Given the description of an element on the screen output the (x, y) to click on. 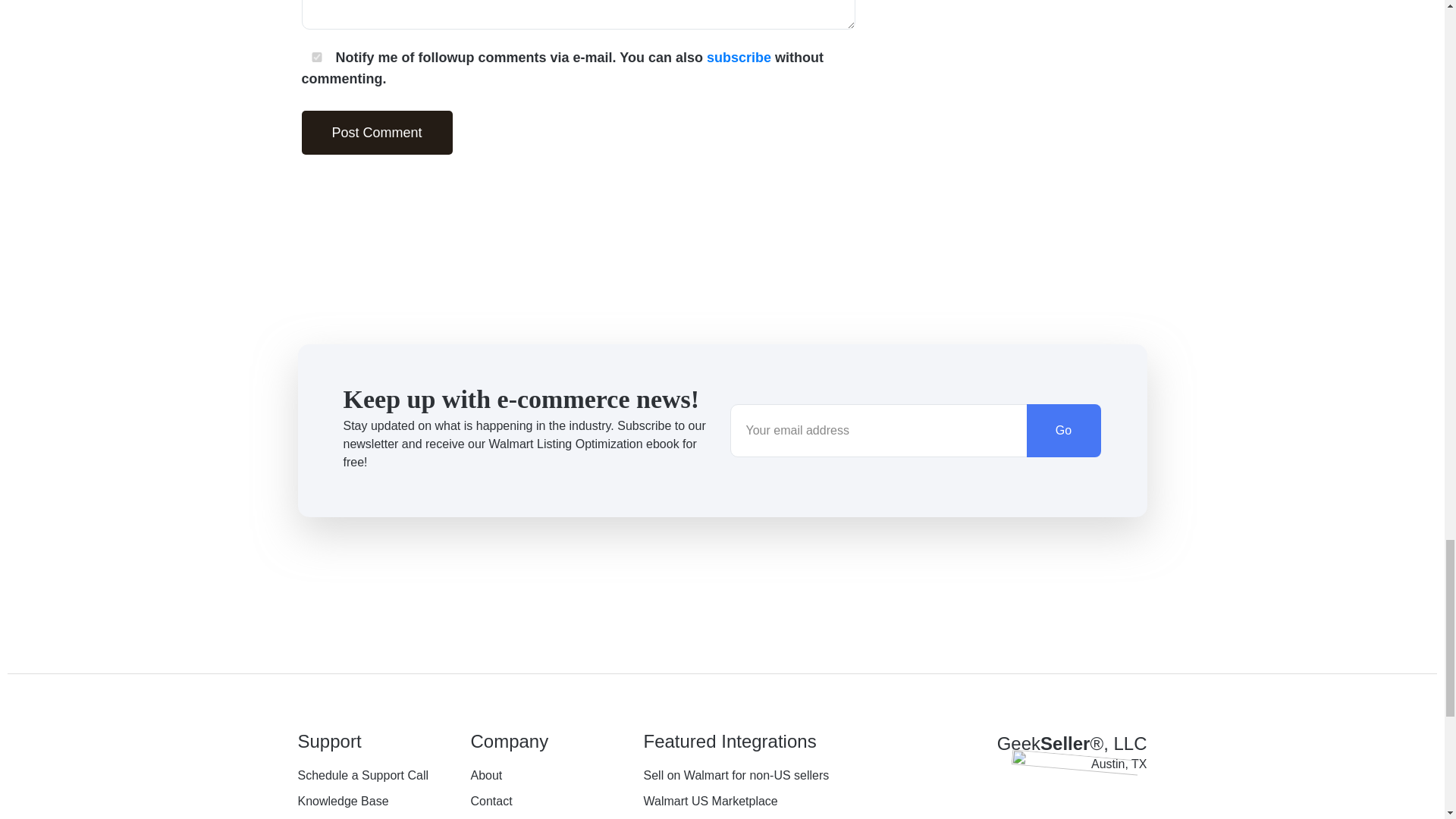
subscribe (738, 56)
Post Comment (376, 132)
Post Comment (376, 132)
replies (315, 57)
